Given the description of an element on the screen output the (x, y) to click on. 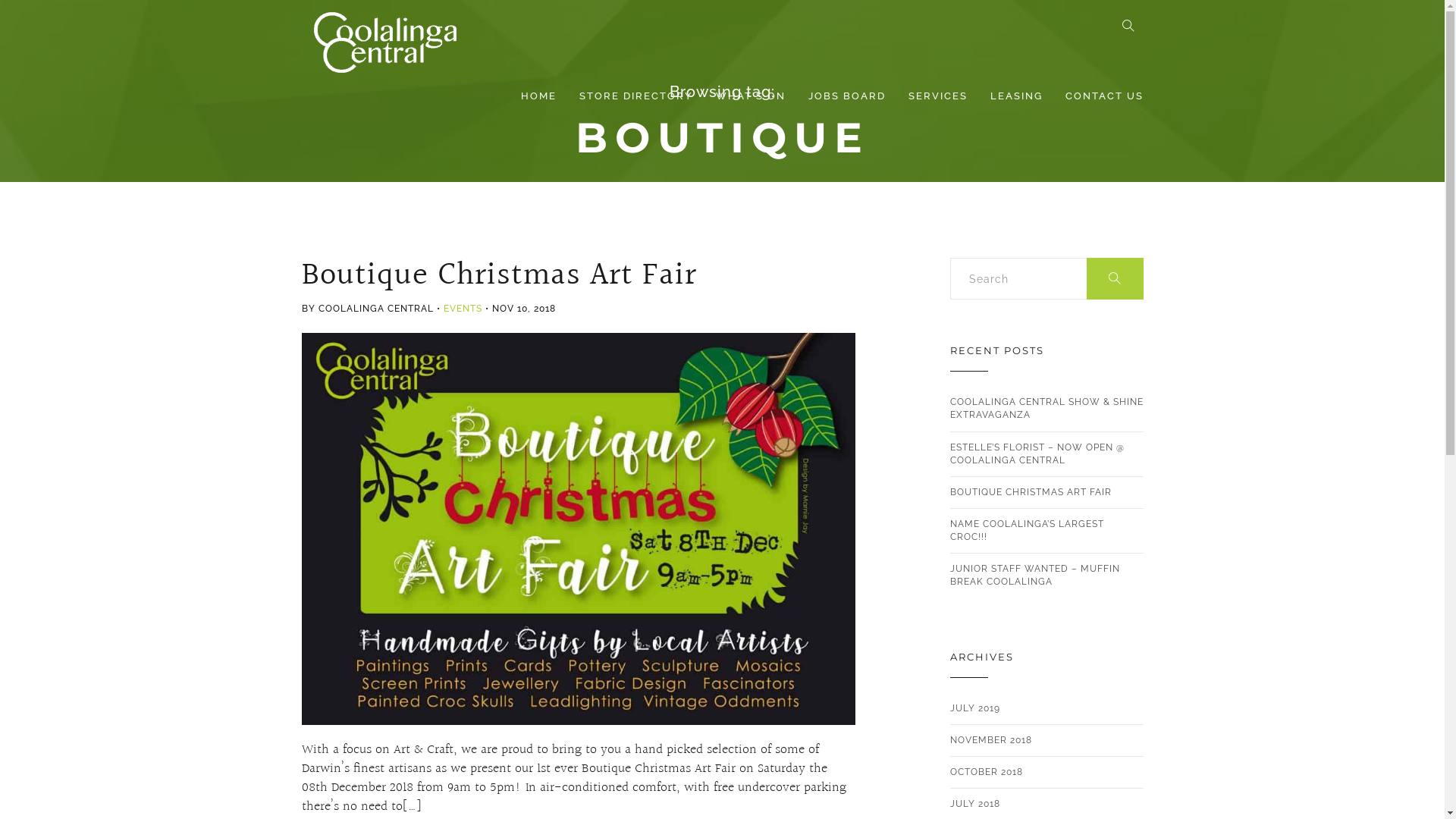
Boutique Christmas Art Fair Element type: text (498, 275)
STORE DIRECTORY Element type: text (635, 96)
LEASING Element type: text (1015, 96)
COOLALINGA CENTRAL SHOW & SHINE EXTRAVAGANZA Element type: text (1045, 408)
HOME Element type: text (538, 96)
SERVICES Element type: text (937, 96)
CONTACT US Element type: text (1104, 96)
OCTOBER 2018 Element type: text (985, 771)
JOBS BOARD Element type: text (846, 96)
BOUTIQUE CHRISTMAS ART FAIR Element type: text (1029, 492)
JULY 2019 Element type: text (974, 708)
NOV 10, 2018 Element type: text (523, 308)
EVENTS Element type: text (461, 308)
NOVEMBER 2018 Element type: text (990, 740)
